Given the description of an element on the screen output the (x, y) to click on. 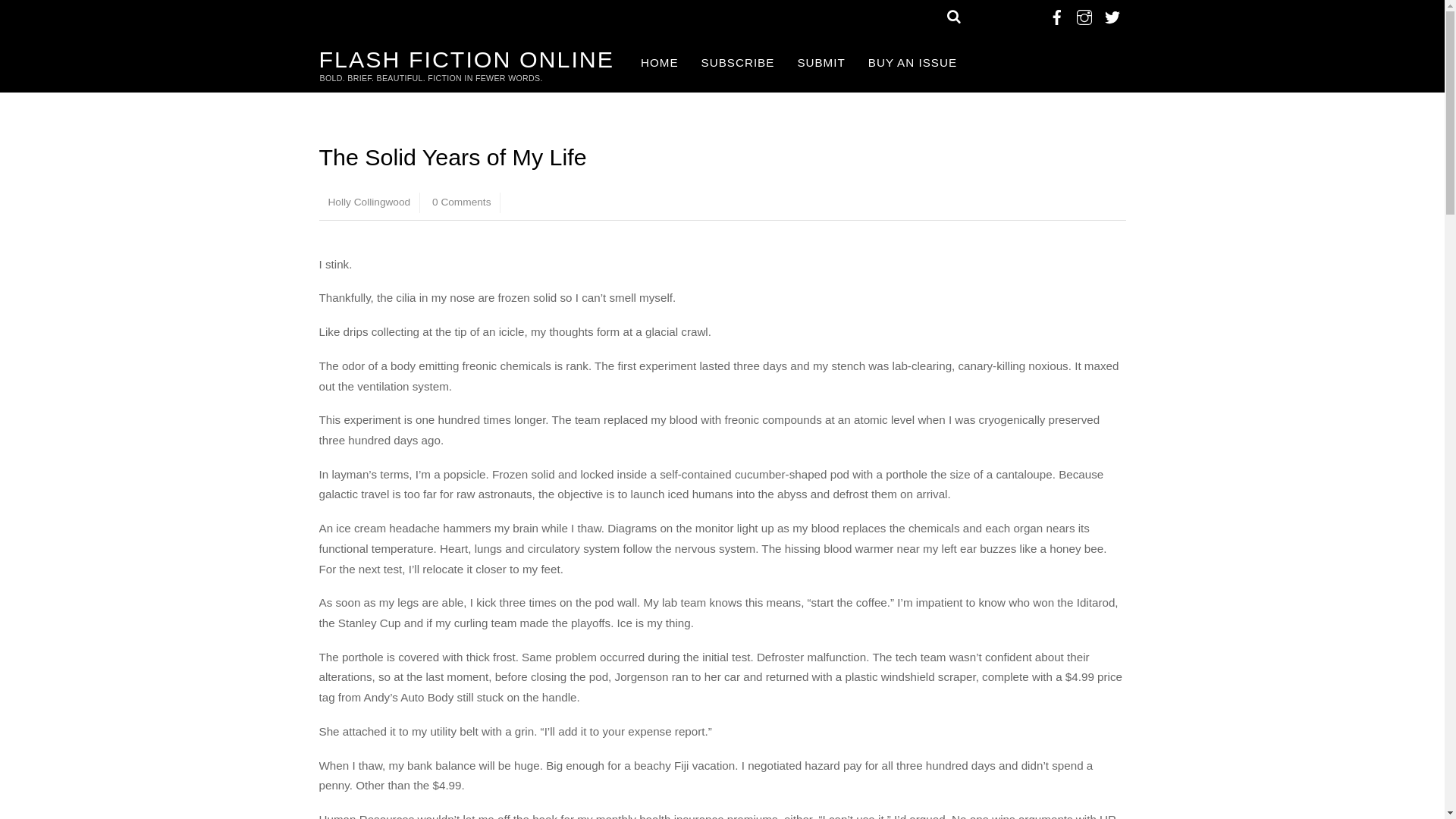
SUBMIT (821, 63)
HOME (659, 63)
0 Comments (462, 202)
Flash Fiction Online (466, 58)
The Solid Years of My Life (452, 156)
SUBSCRIBE (738, 63)
BUY AN ISSUE (912, 63)
FLASH FICTION ONLINE (466, 58)
Holly Collingwood (368, 202)
